Given the description of an element on the screen output the (x, y) to click on. 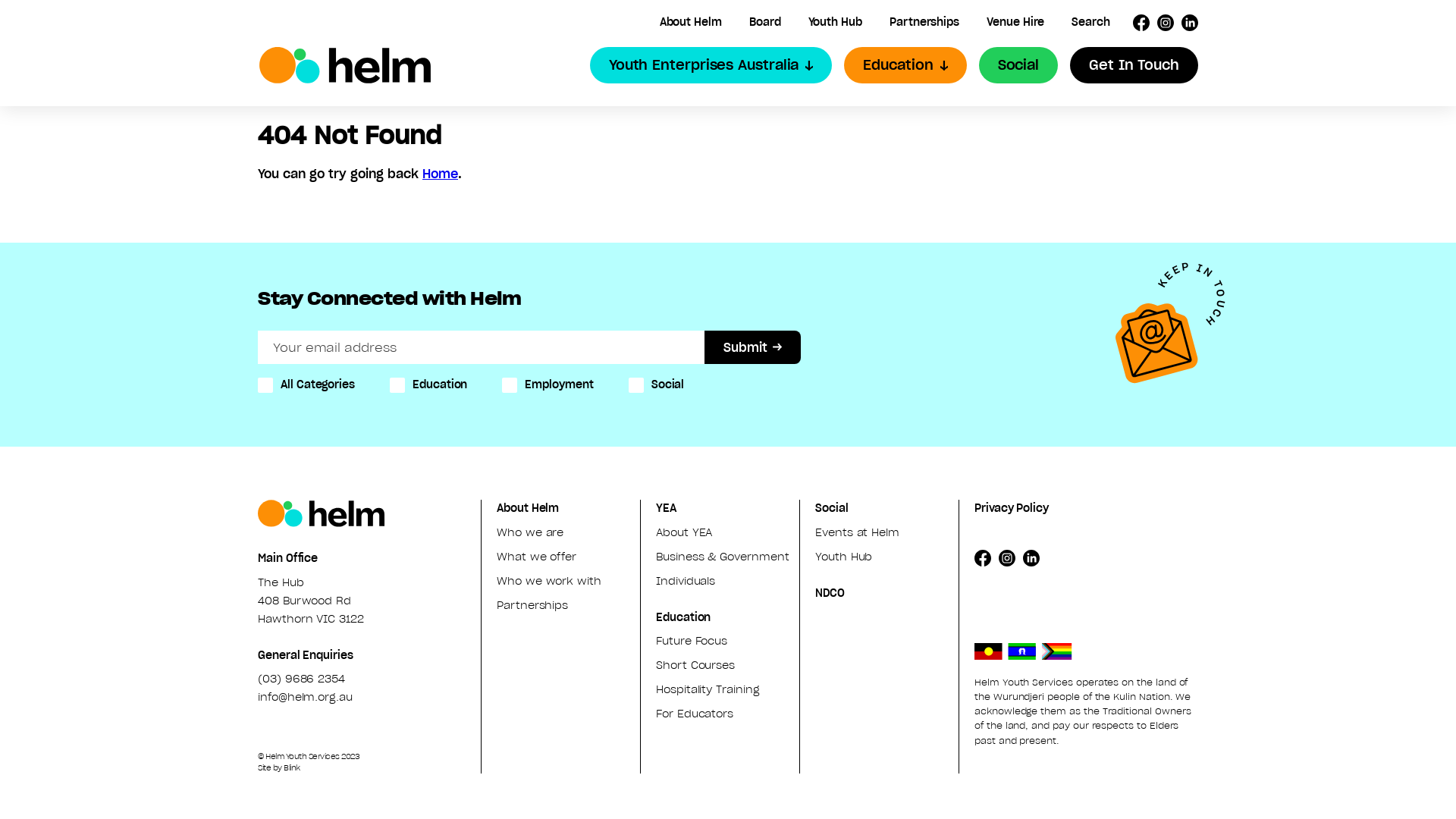
Youth Enterprises Australia Element type: text (710, 65)
About YEA Element type: text (683, 532)
About Helm Element type: text (527, 507)
Home Element type: text (440, 173)
Education Element type: text (905, 65)
What we offer Element type: text (536, 556)
Hospitality Training Element type: text (707, 689)
Business & Government Element type: text (722, 556)
Search Element type: text (1090, 21)
Social Element type: text (1018, 65)
Board Element type: text (765, 21)
Future Focus Element type: text (691, 640)
About Helm Element type: text (690, 21)
Education Element type: text (682, 617)
Short Courses Element type: text (694, 664)
Submit Element type: text (752, 347)
Social Element type: text (831, 507)
Individuals Element type: text (685, 580)
Site by Blink Element type: text (368, 767)
NDCO Element type: text (829, 592)
Who we are Element type: text (529, 532)
Partnerships Element type: text (531, 604)
Partnerships Element type: text (924, 21)
(03) 9686 2354 Element type: text (301, 678)
Events at Helm Element type: text (857, 532)
Youth Hub Element type: text (835, 21)
Venue Hire Element type: text (1015, 21)
Who we work with Element type: text (548, 580)
Privacy Policy Element type: text (1011, 507)
Youth Hub Element type: text (843, 556)
info@helm.org.au Element type: text (304, 696)
For Educators Element type: text (694, 713)
Get In Touch Element type: text (1134, 65)
YEA Element type: text (665, 507)
